Given the description of an element on the screen output the (x, y) to click on. 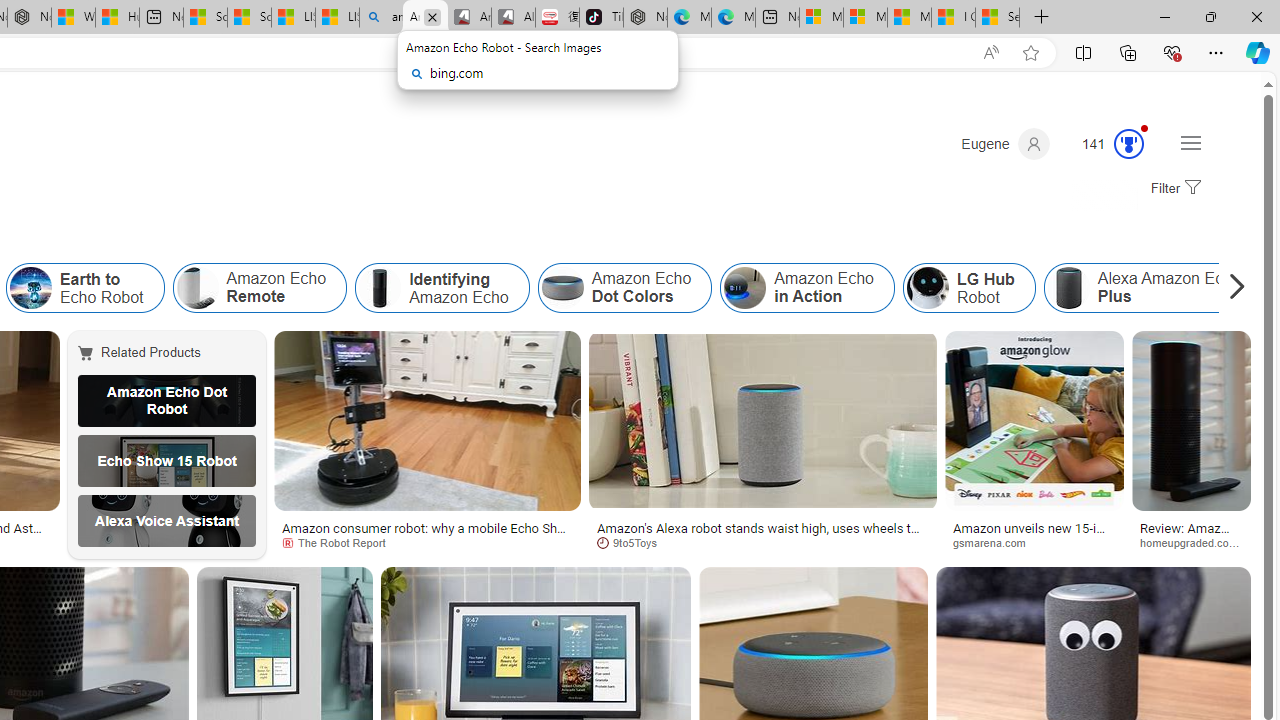
Earth to Echo Robot (84, 287)
9to5Toys (762, 542)
Alexa Amazon Echo Plus (1068, 287)
Amazon Echo Dot Robot (167, 400)
Class: item col (1152, 287)
Alexa Amazon Echo Plus (1152, 287)
Alexa Voice Assistant Robot (167, 521)
Nordace - Best Sellers (644, 17)
Earth to Echo Robot (30, 287)
gsmarena.com (996, 541)
Microsoft Rewards 141 (1105, 143)
